Given the description of an element on the screen output the (x, y) to click on. 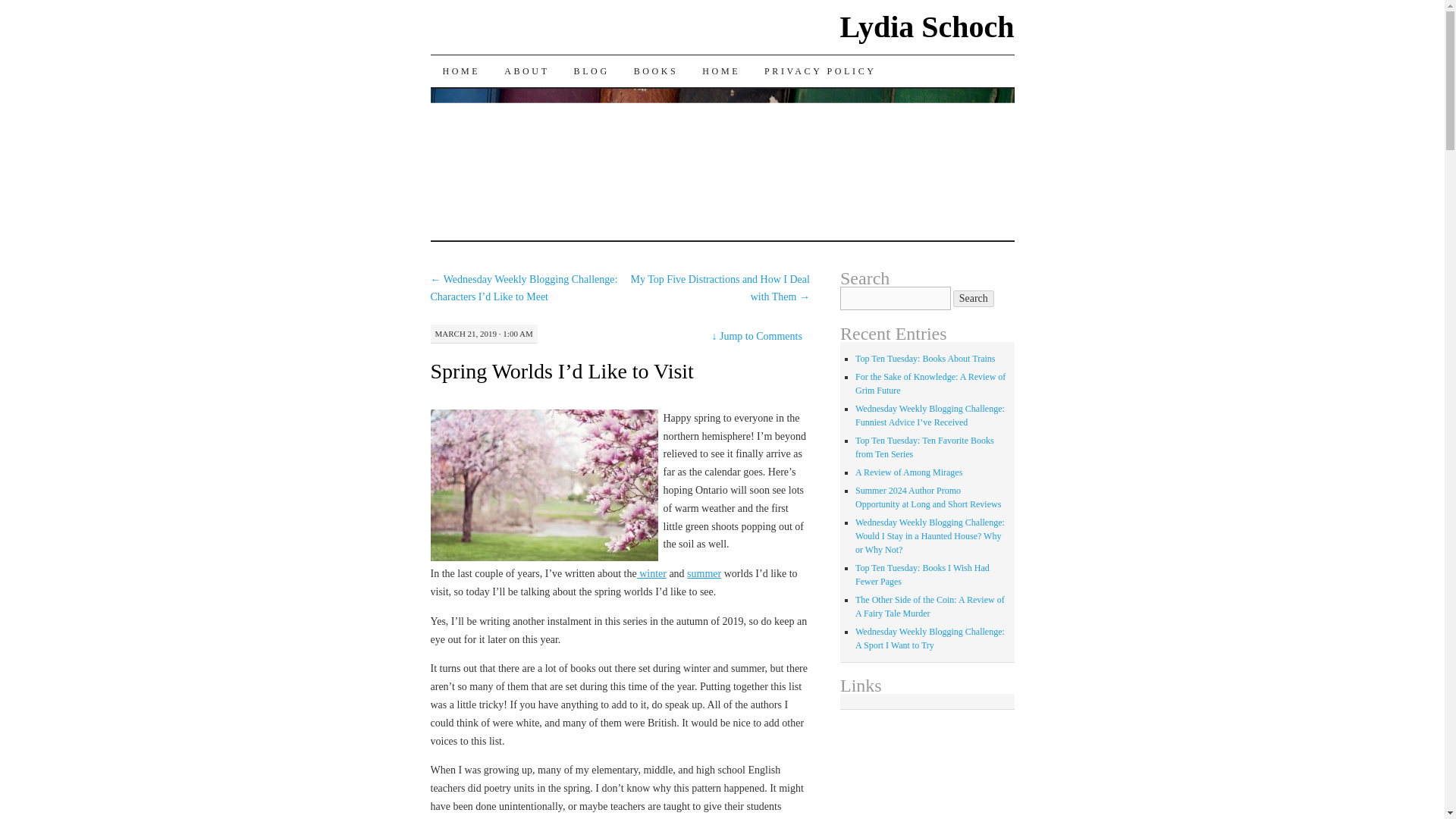
ABOUT (526, 70)
summer (703, 573)
Search (973, 298)
HOME (461, 70)
winter (651, 573)
BLOG (591, 70)
HOME (721, 70)
Lydia Schoch (926, 26)
BOOKS (655, 70)
Lydia Schoch (926, 26)
